Given the description of an element on the screen output the (x, y) to click on. 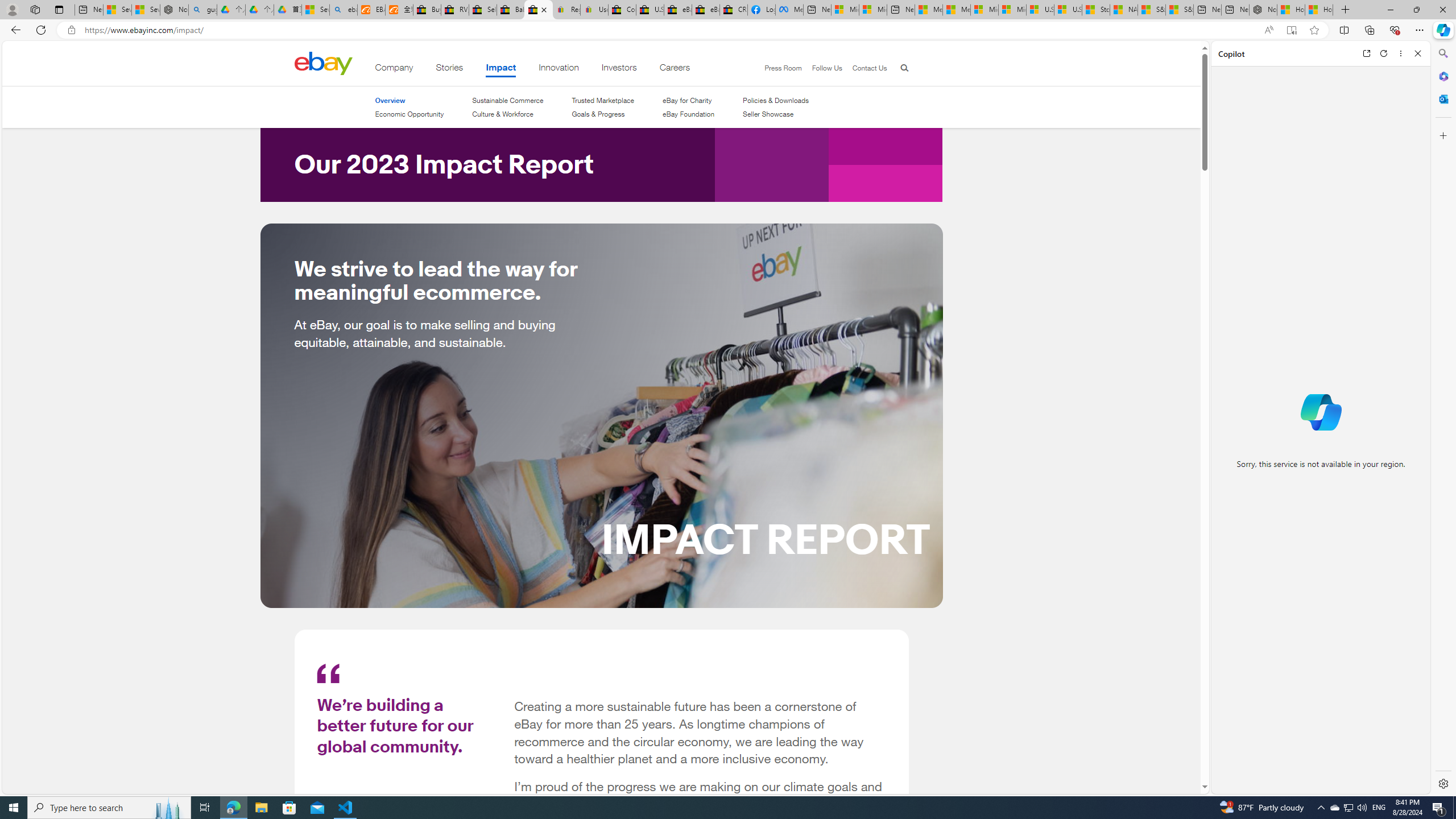
Sell worldwide with eBay (483, 9)
eBay Inc. Reports Third Quarter 2023 Results (706, 9)
Address and search bar (669, 29)
Careers (674, 69)
eBay for Charity (688, 100)
Investors (619, 69)
New tab (1235, 9)
Overview (409, 100)
Refresh (1383, 53)
Consumer Health Data Privacy Policy - eBay Inc. (621, 9)
Outlook (1442, 98)
Home (323, 63)
